Given the description of an element on the screen output the (x, y) to click on. 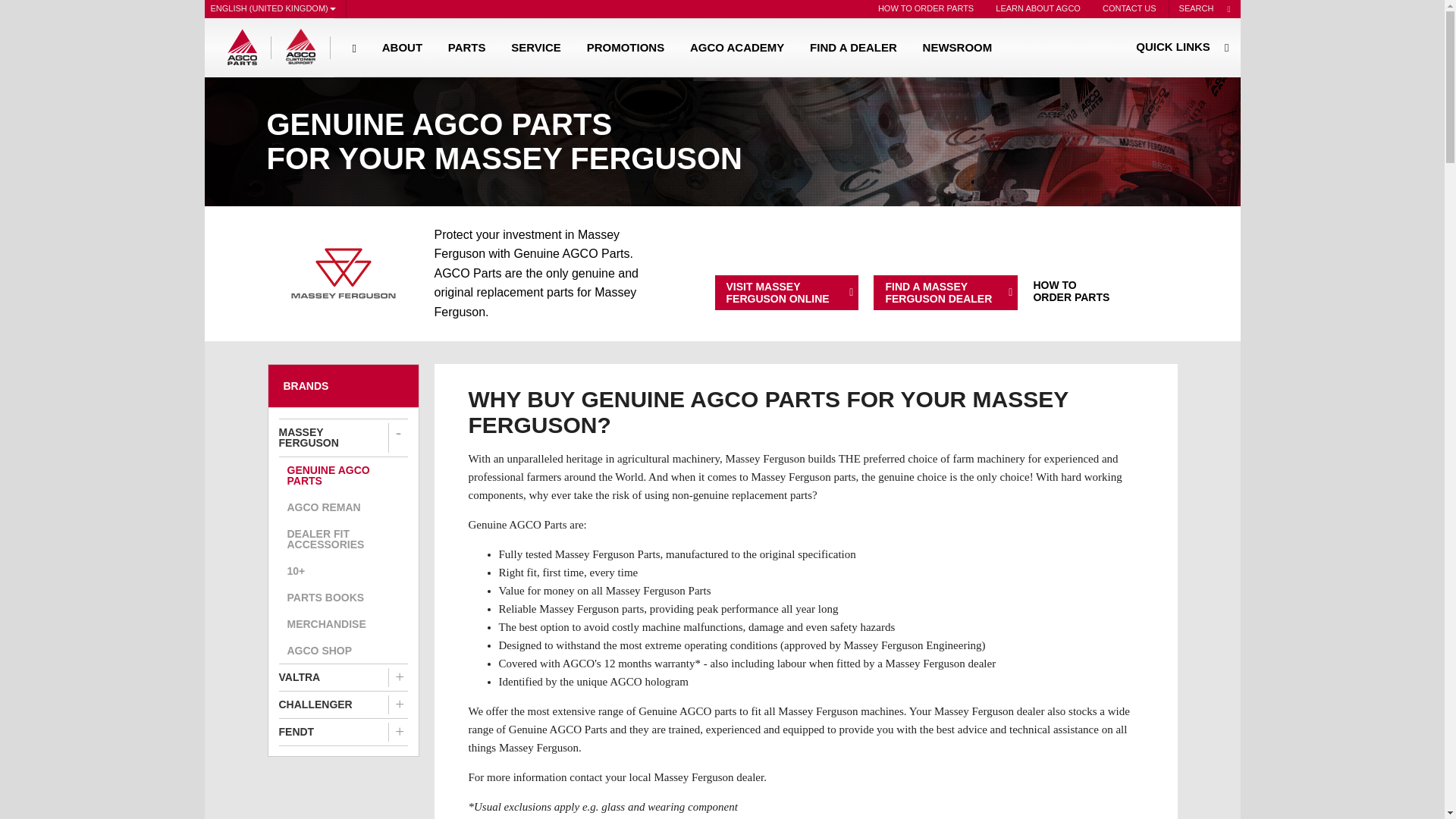
SEARCH (1204, 9)
ABOUT (402, 47)
PARTS (466, 47)
HOW TO ORDER PARTS (925, 9)
LEARN ABOUT AGCO (1038, 9)
CONTACT US (1128, 9)
